Given the description of an element on the screen output the (x, y) to click on. 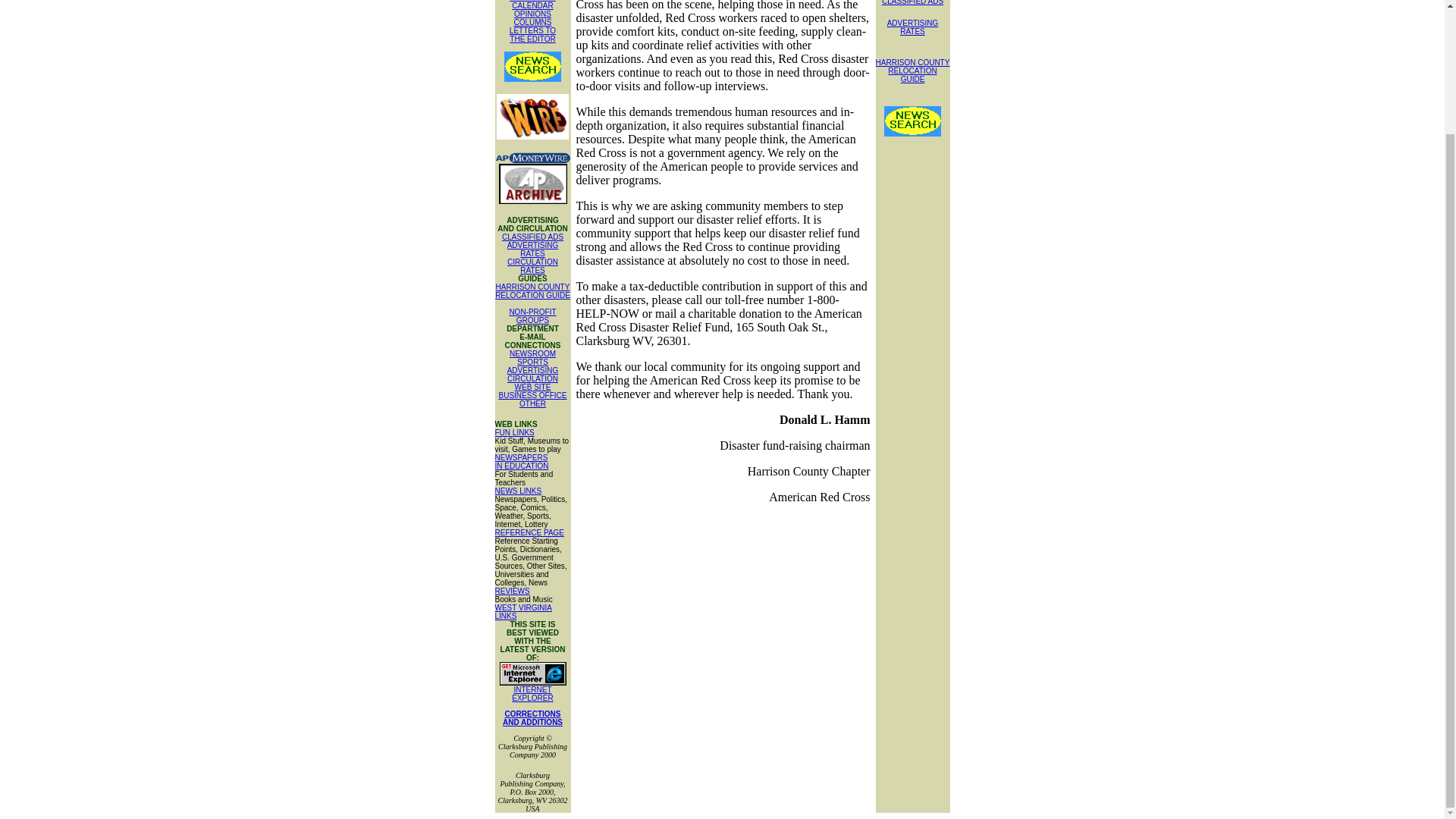
RELOCATION GUIDE (532, 295)
FUN LINKS (514, 432)
COLUMNS (532, 22)
GROUPS (532, 320)
ADVERTISING (532, 370)
HARRISON COUNTY (533, 286)
OPINIONS (532, 13)
OTHER (532, 403)
WEB LINKS (516, 422)
GUIDES (532, 277)
